Given the description of an element on the screen output the (x, y) to click on. 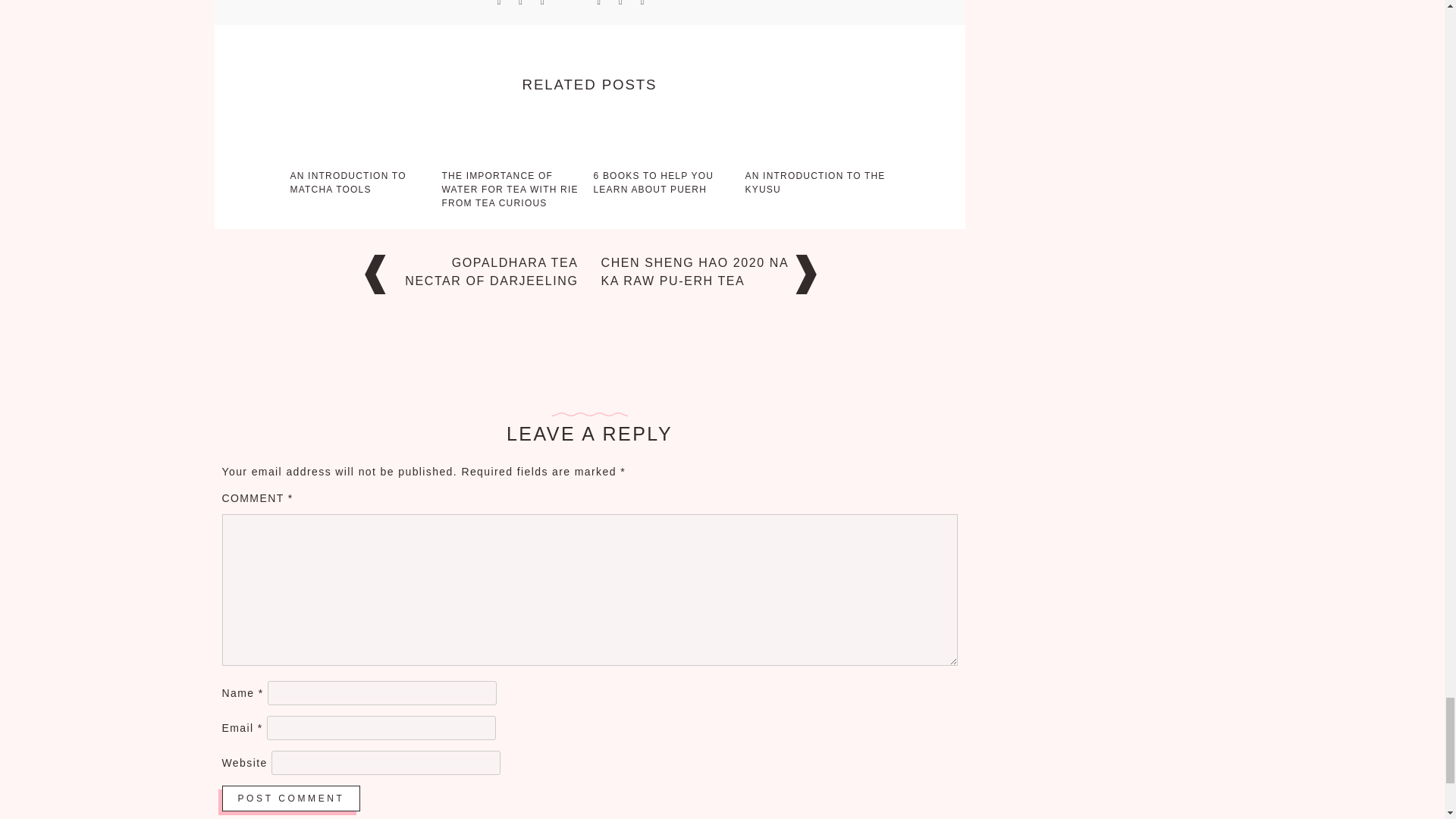
Post Comment (290, 798)
